Given the description of an element on the screen output the (x, y) to click on. 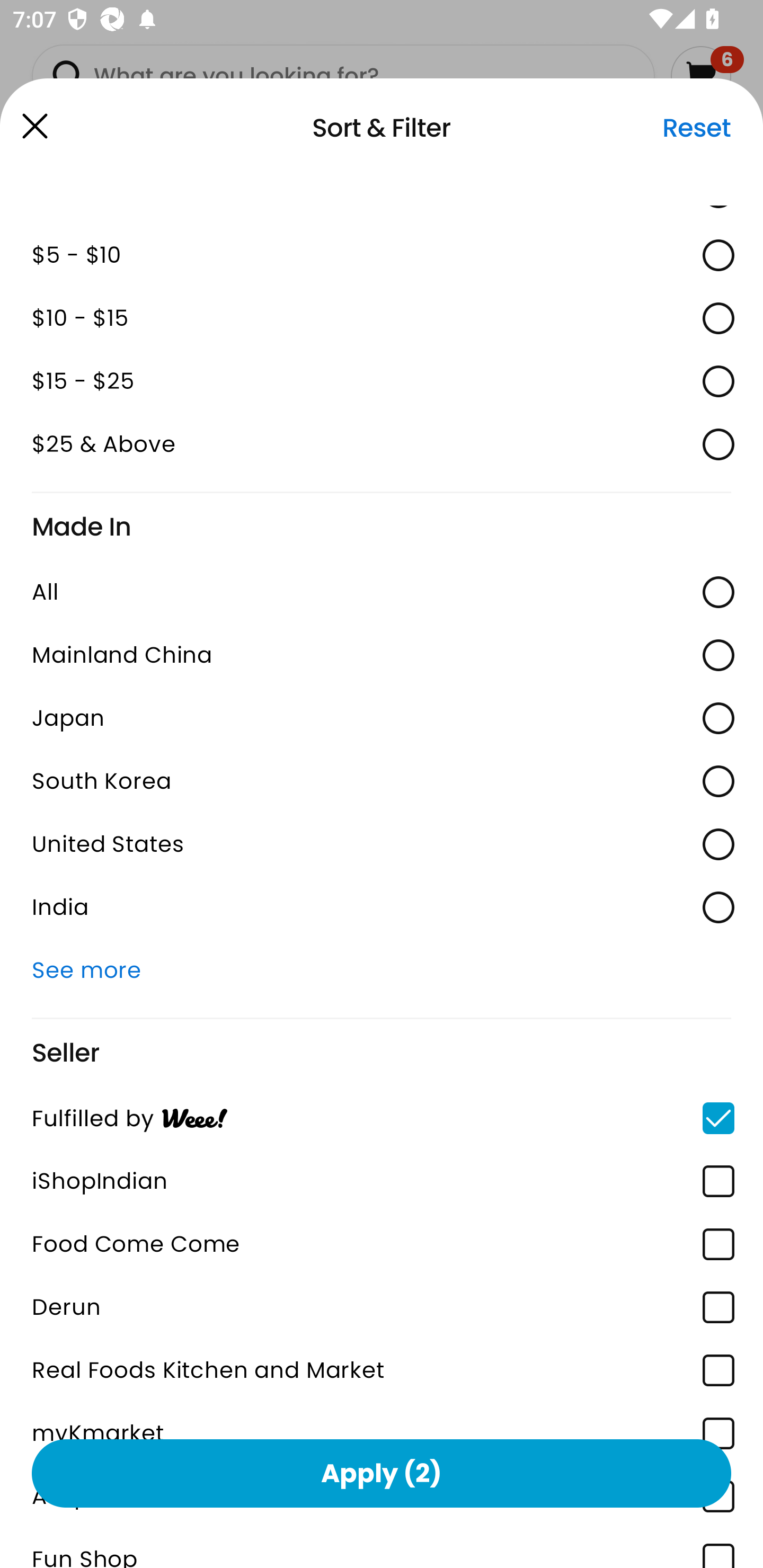
Reset (696, 127)
See more (381, 970)
Apply (2) (381, 1472)
